Given the description of an element on the screen output the (x, y) to click on. 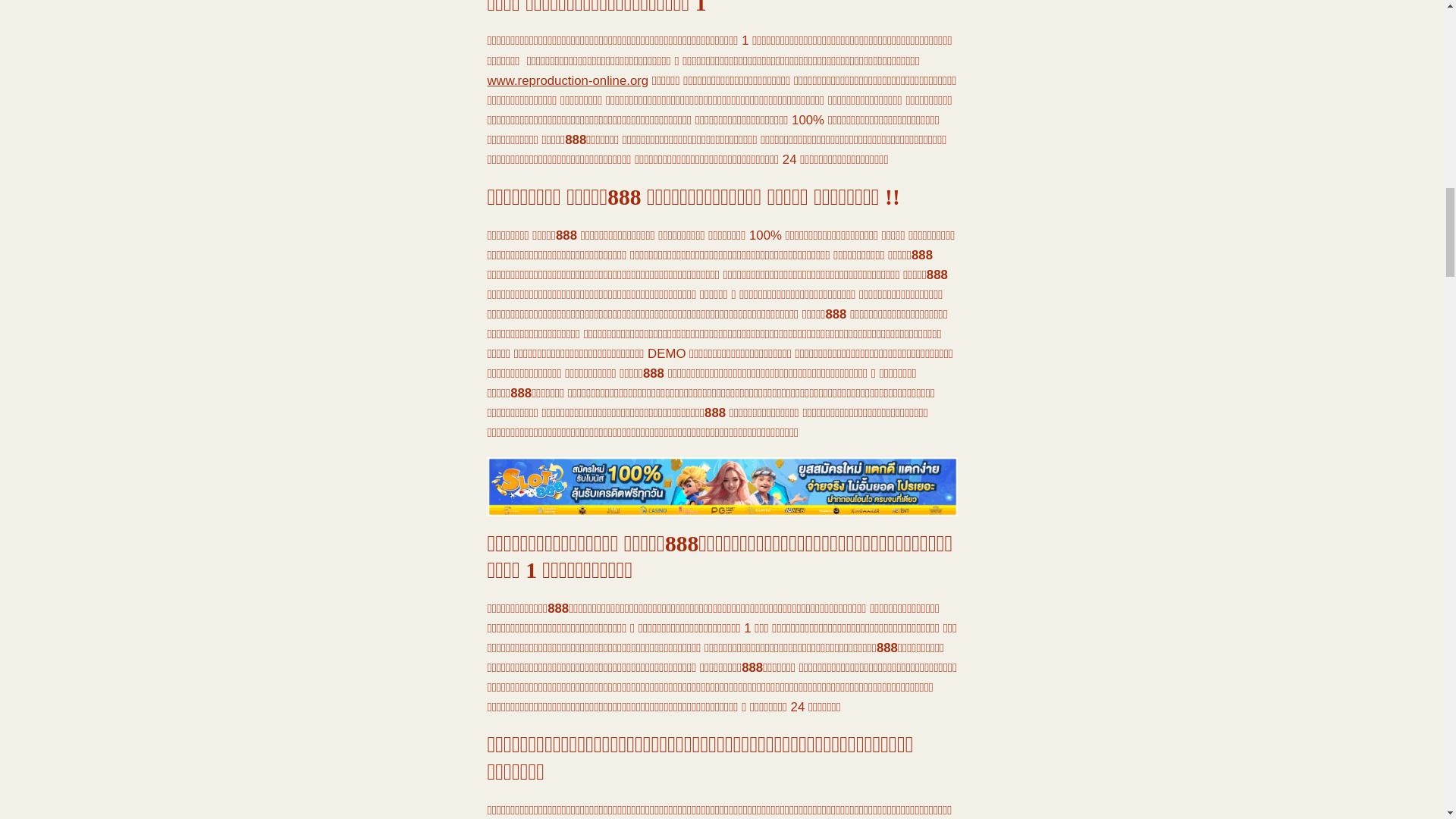
www.reproduction-online.org (566, 80)
